Given the description of an element on the screen output the (x, y) to click on. 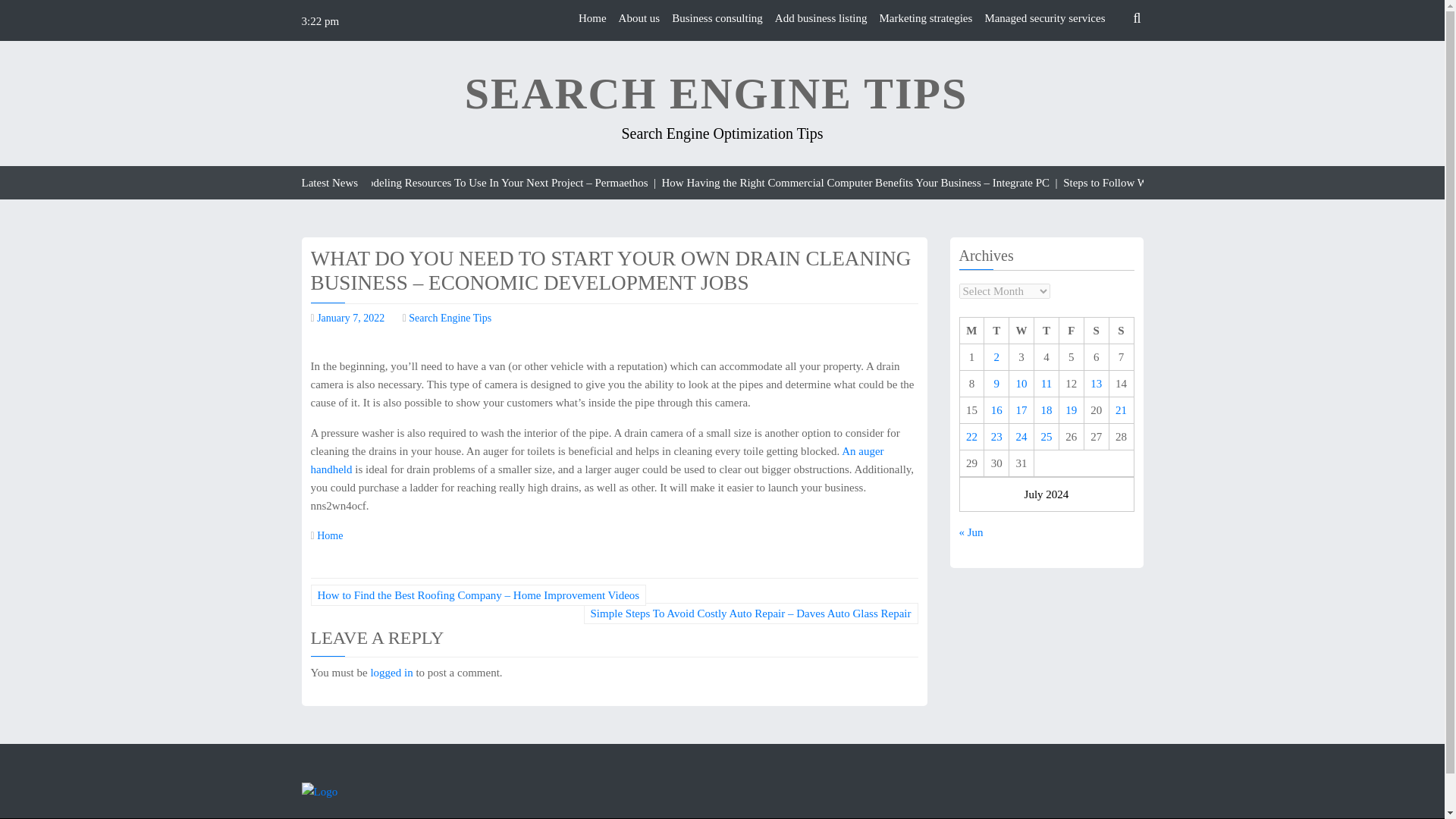
Friday (1070, 330)
9 (997, 383)
Tuesday (996, 330)
Thursday (1046, 330)
23 (997, 436)
Managed security services (1044, 18)
17 (1021, 410)
16 (997, 410)
Monday (971, 330)
18 (1046, 410)
logged in (390, 672)
SEARCH ENGINE TIPS (716, 93)
Search Engine Tips (450, 317)
22 (971, 436)
Add business listing (820, 18)
